Given the description of an element on the screen output the (x, y) to click on. 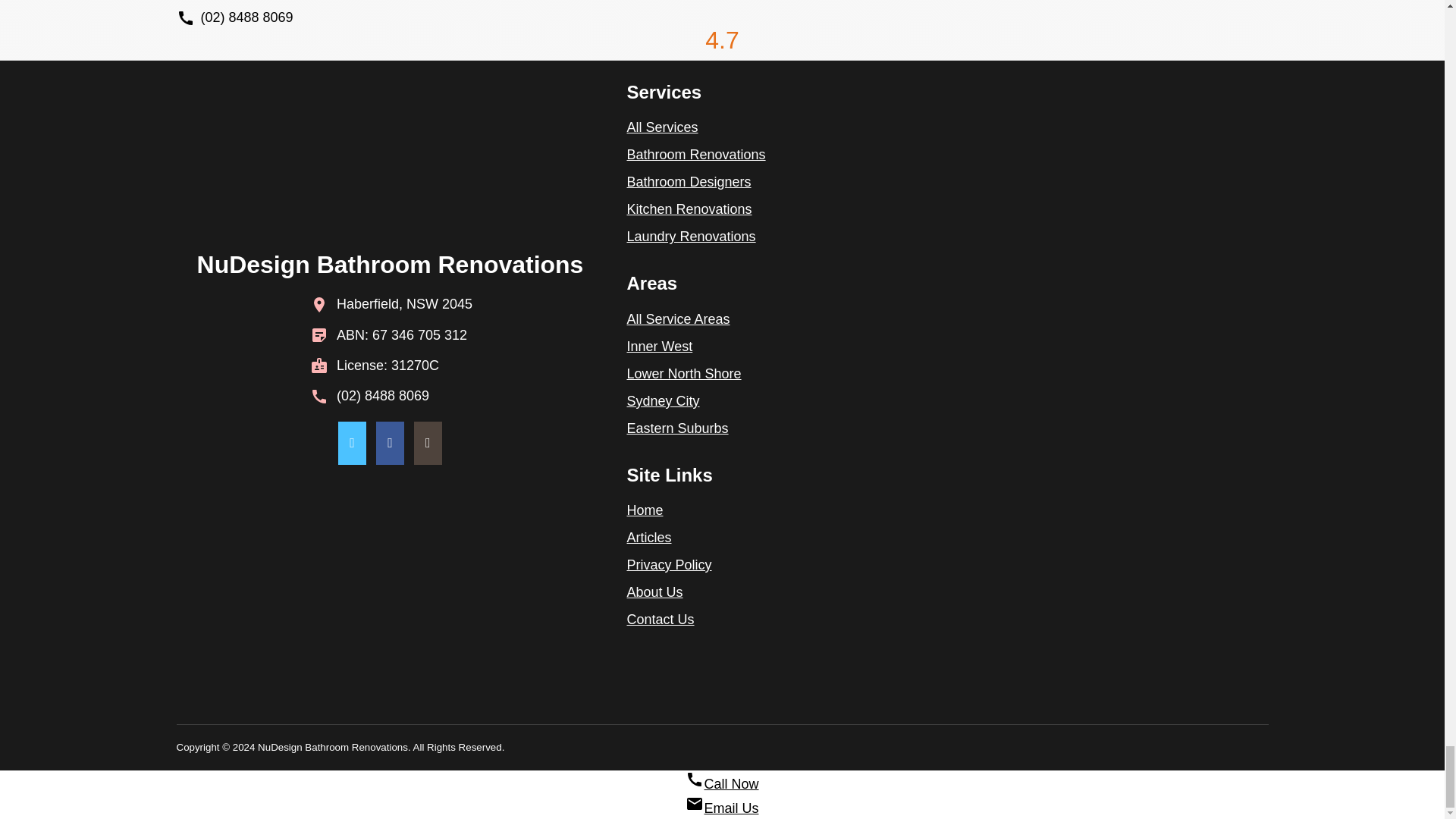
email (694, 803)
call (694, 779)
